Given the description of an element on the screen output the (x, y) to click on. 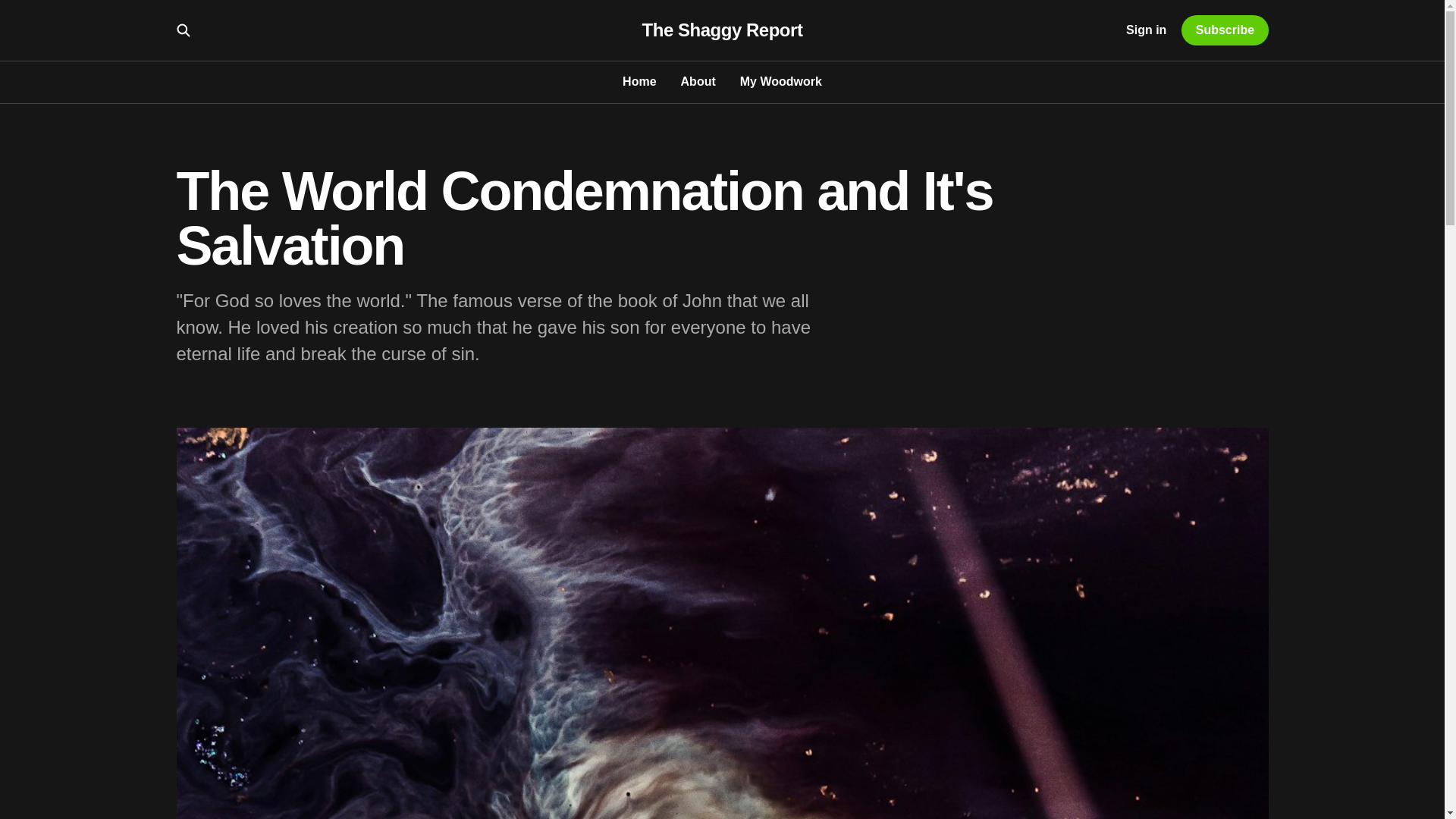
Sign in (1145, 30)
Subscribe (1224, 30)
Home (639, 81)
My Woodwork (780, 81)
The Shaggy Report (722, 30)
About (698, 81)
